Given the description of an element on the screen output the (x, y) to click on. 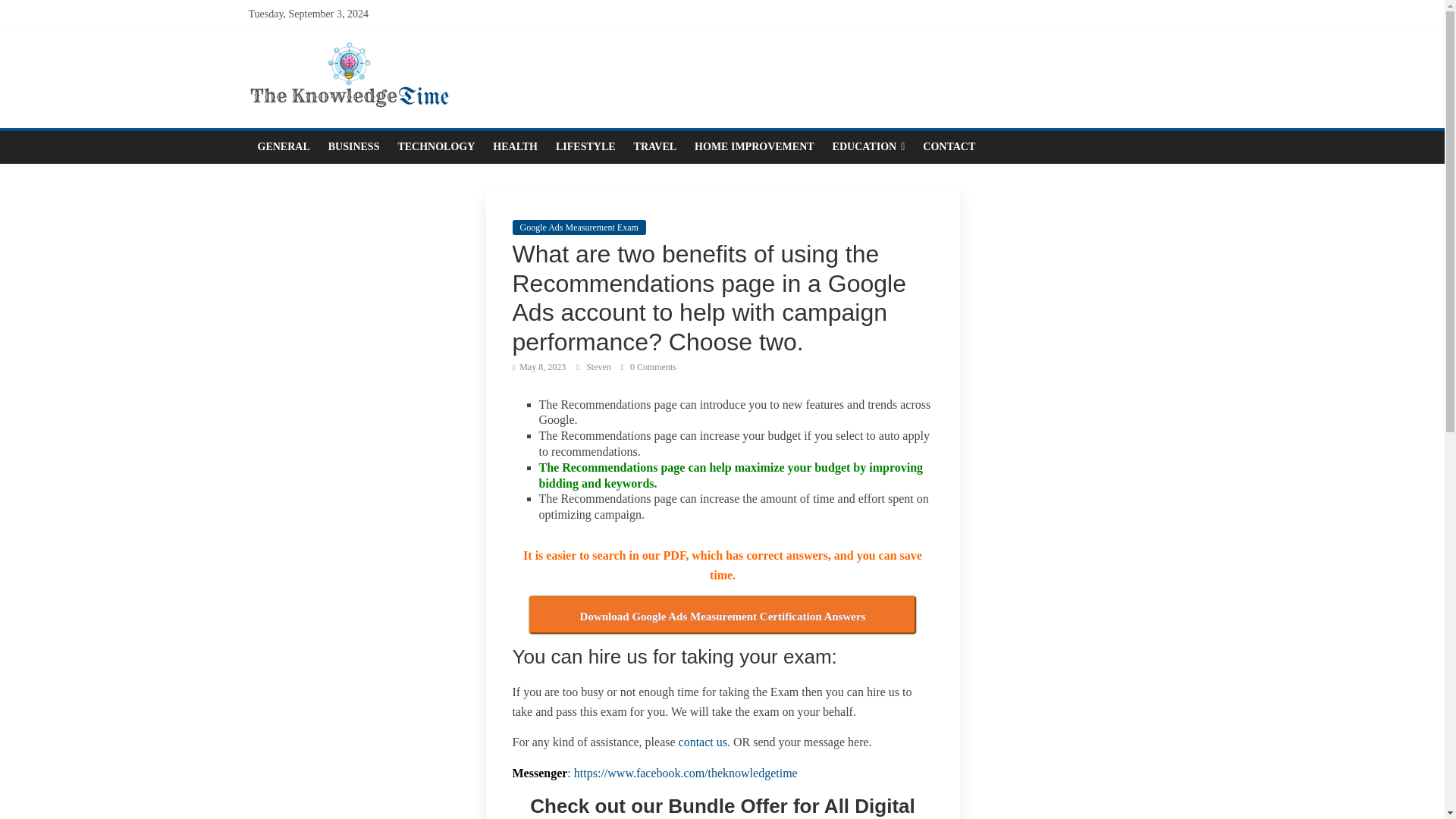
TRAVEL (654, 146)
GENERAL (283, 146)
9:30 am (539, 366)
Google Ads Measurement Certification Exam Answers (722, 614)
BUSINESS (353, 146)
EDUCATION (869, 146)
Steven (599, 366)
LIFESTYLE (585, 146)
HEALTH (515, 146)
HOME IMPROVEMENT (754, 146)
